Given the description of an element on the screen output the (x, y) to click on. 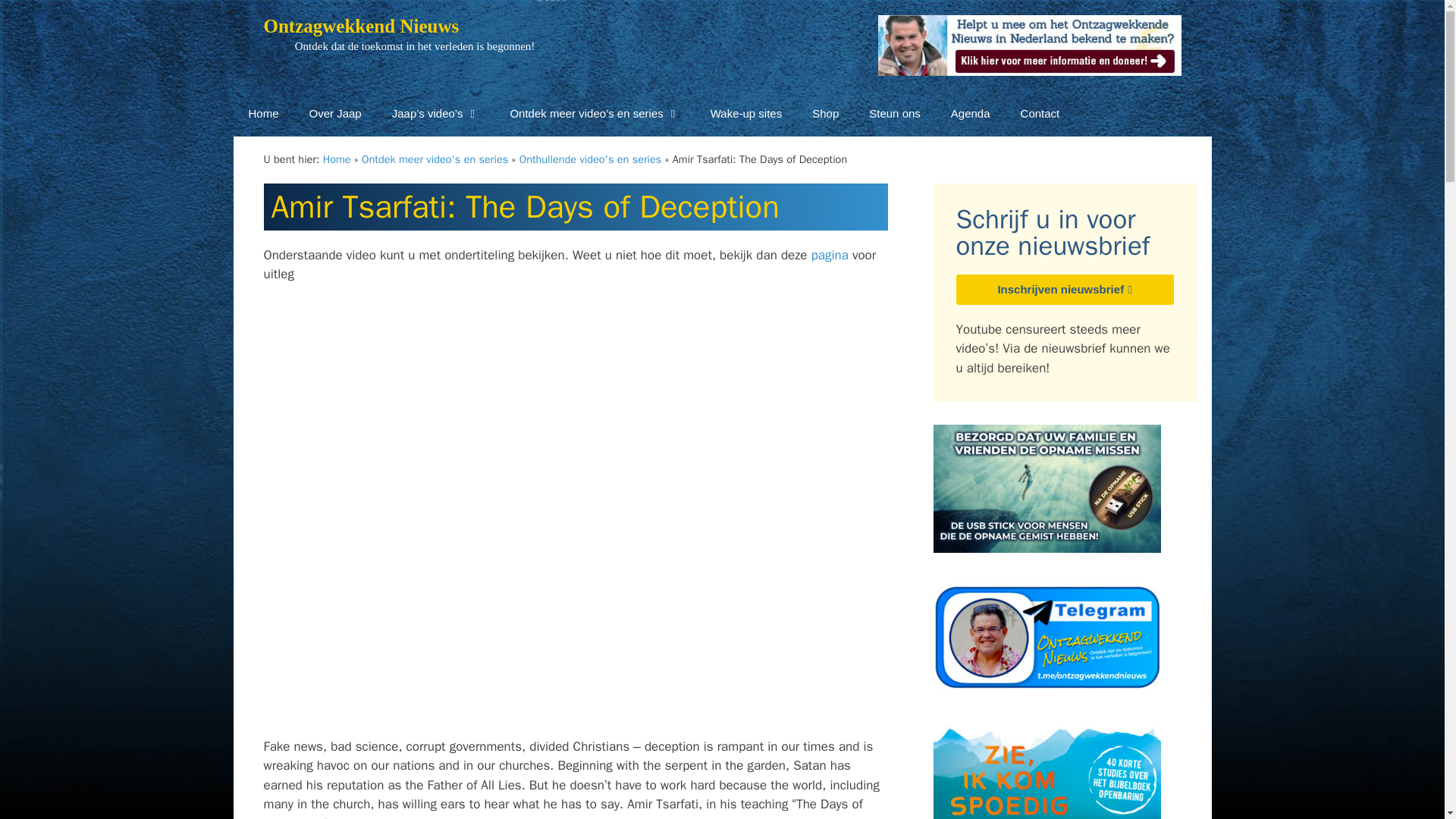
Ontzagwekkend Nieuws (361, 25)
